Given the description of an element on the screen output the (x, y) to click on. 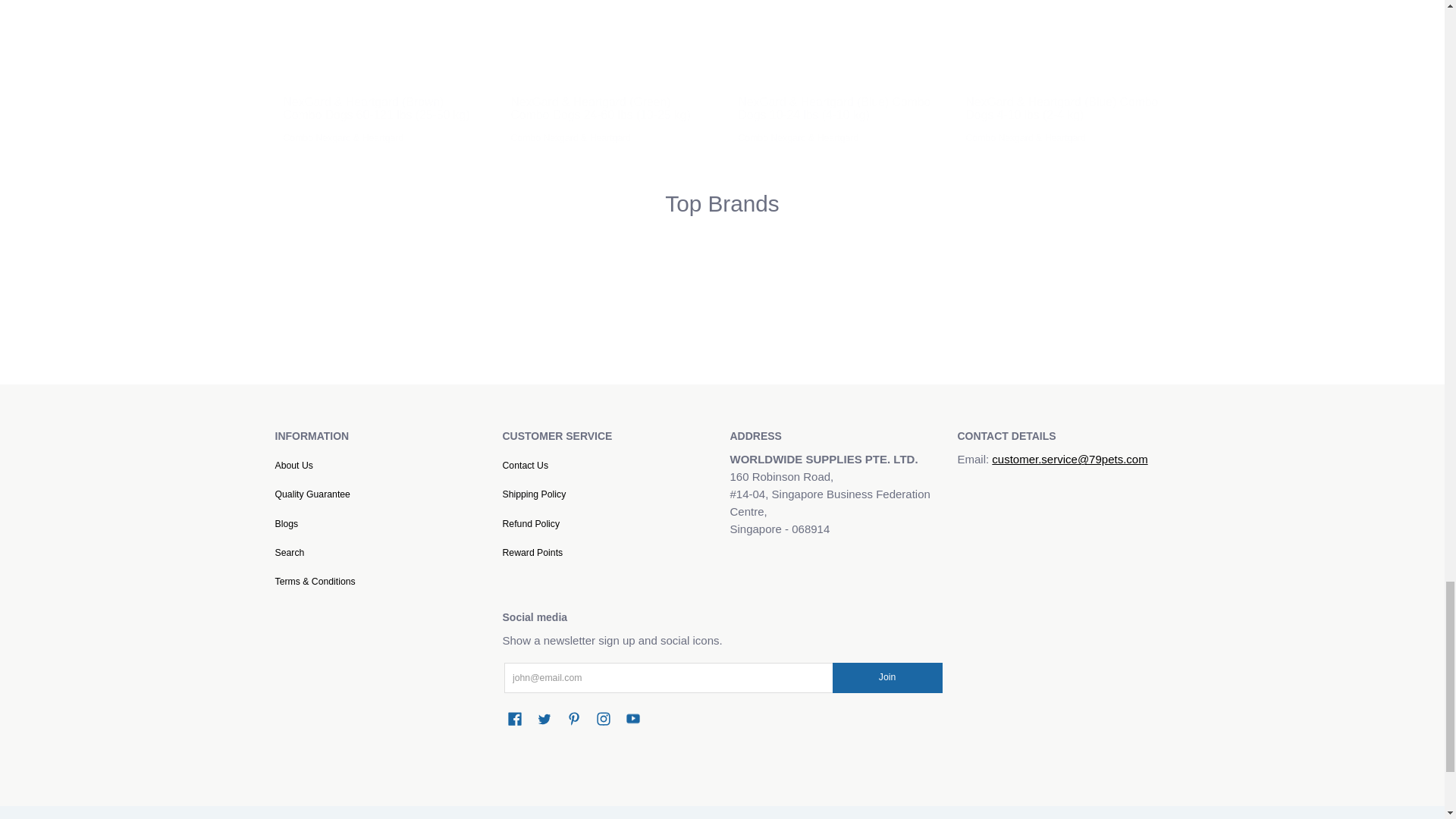
7568592208104 (516, 67)
7568426008808 (744, 67)
7568556228840 (289, 67)
7568515367144 (972, 67)
